Given the description of an element on the screen output the (x, y) to click on. 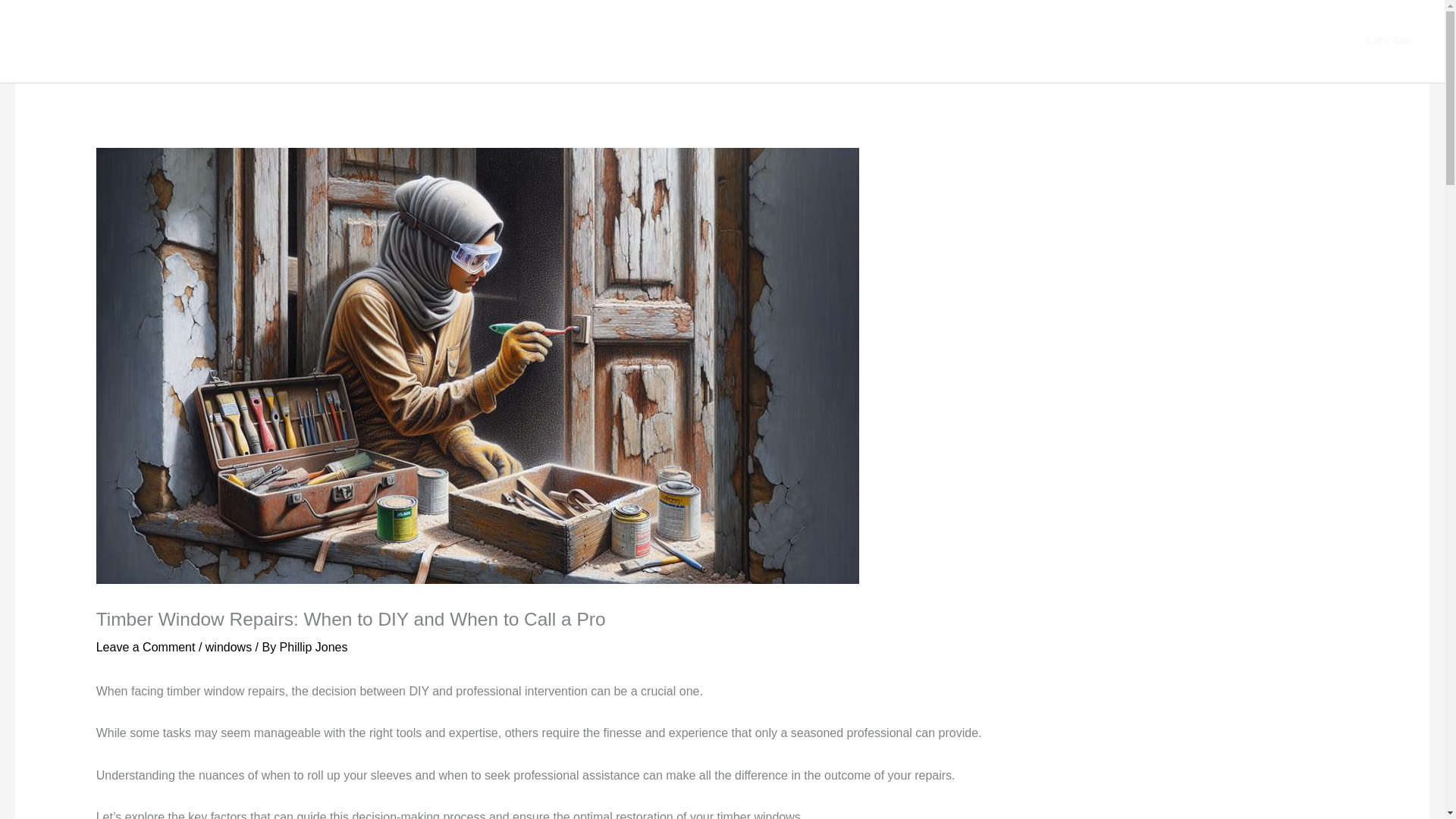
Home (1089, 40)
Get In Touch (1237, 40)
Let's Talk (1388, 40)
Blog (1308, 40)
About Us (1155, 40)
View all posts by Phillip Jones (313, 646)
Phillip Jones (313, 646)
Leave a Comment (145, 646)
windows (228, 646)
